Given the description of an element on the screen output the (x, y) to click on. 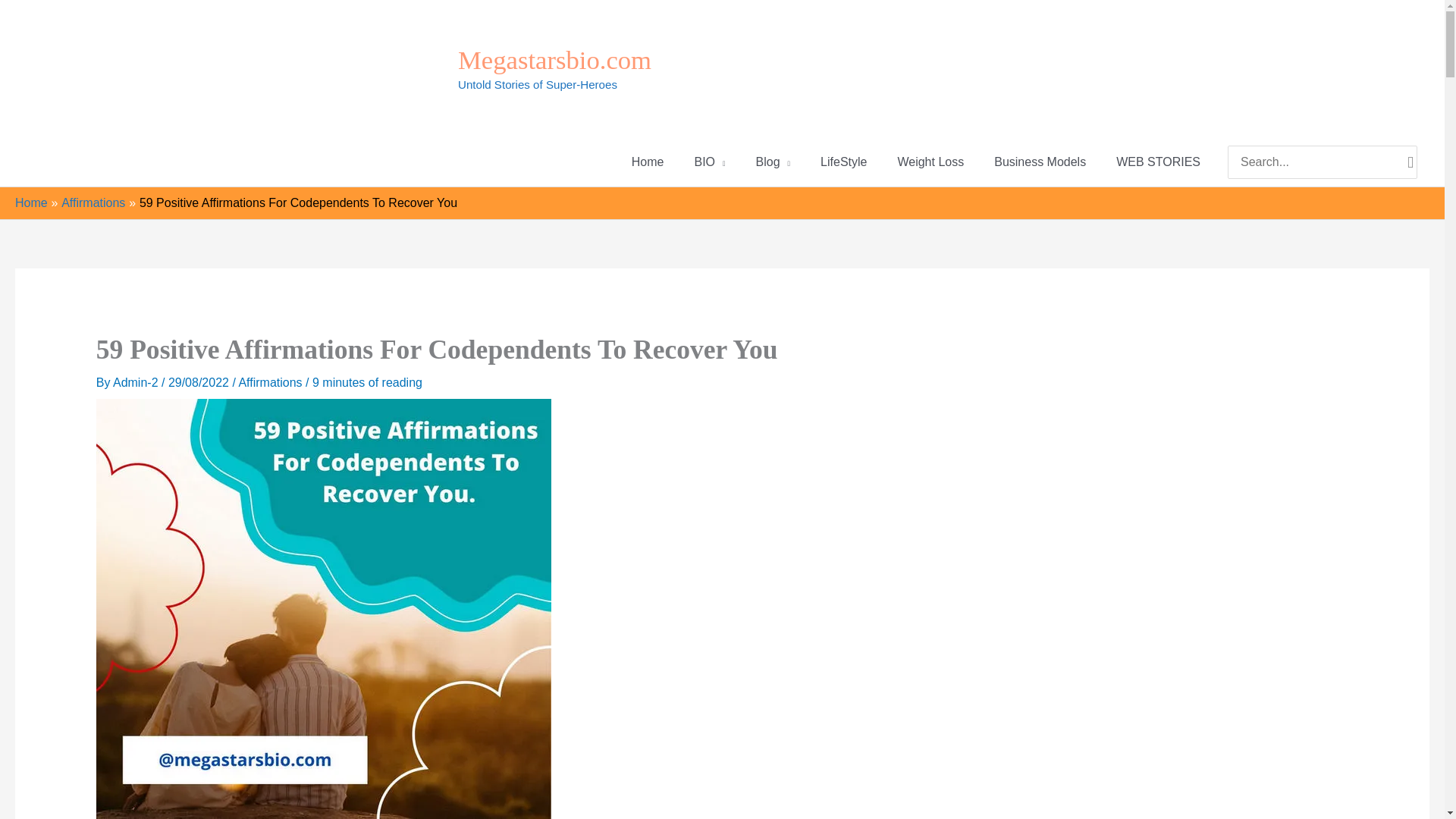
Home (647, 162)
View all posts by Admin-2 (137, 382)
LifeStyle (843, 162)
Affirmations (269, 382)
Admin-2 (137, 382)
Weight Loss (930, 162)
Home (31, 202)
Blog (773, 162)
Business Models (1039, 162)
Megastarsbio.com (554, 59)
